Given the description of an element on the screen output the (x, y) to click on. 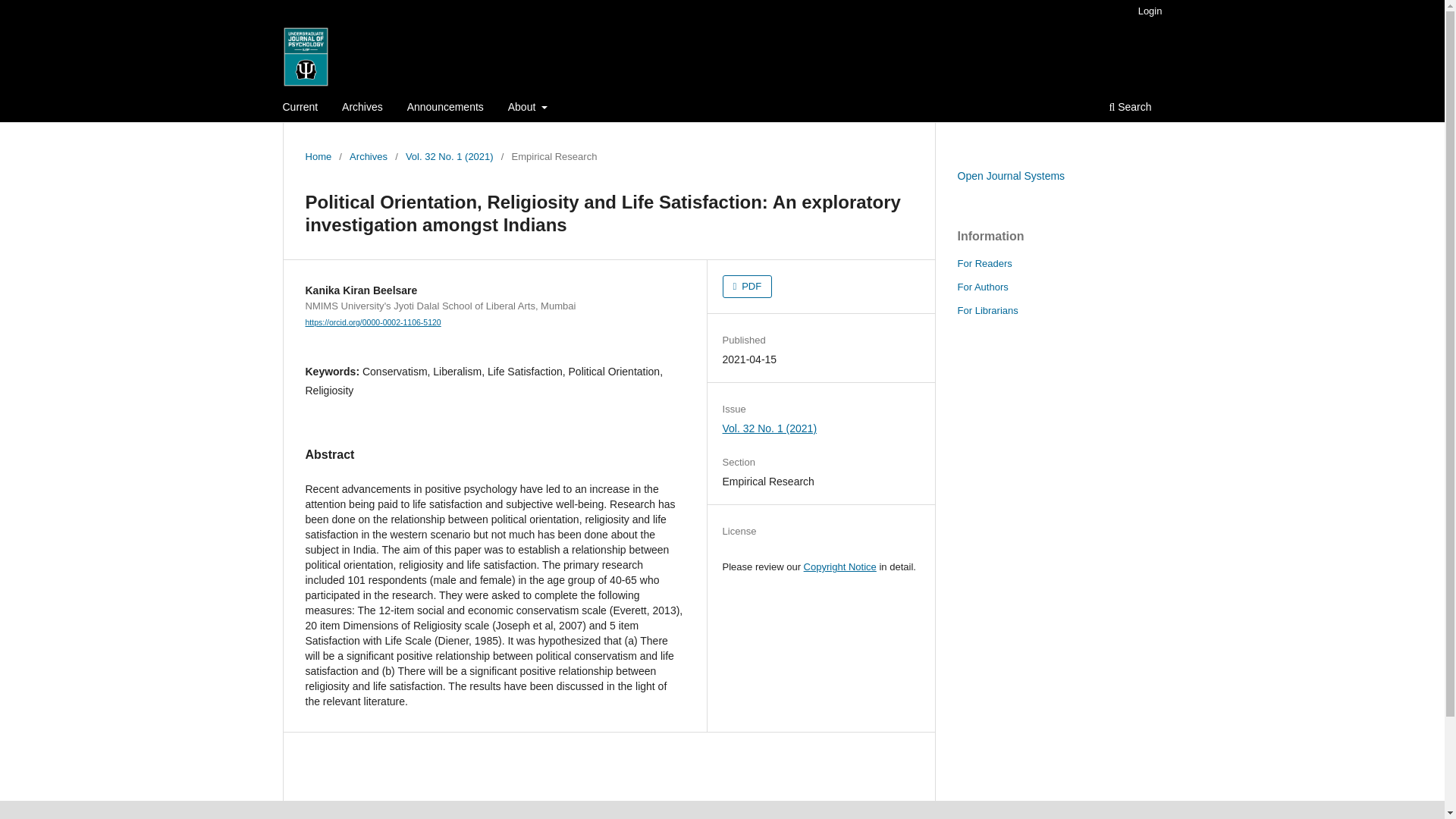
PDF (747, 286)
For Readers (983, 263)
Archives (368, 156)
About (527, 108)
Copyright Notice (839, 566)
Archives (362, 108)
Home (317, 156)
Copyright Notice (839, 566)
For Librarians (986, 310)
Search (1129, 108)
Open Journal Systems (1010, 175)
Announcements (445, 108)
Login (1150, 11)
For Authors (981, 286)
Current (300, 108)
